Given the description of an element on the screen output the (x, y) to click on. 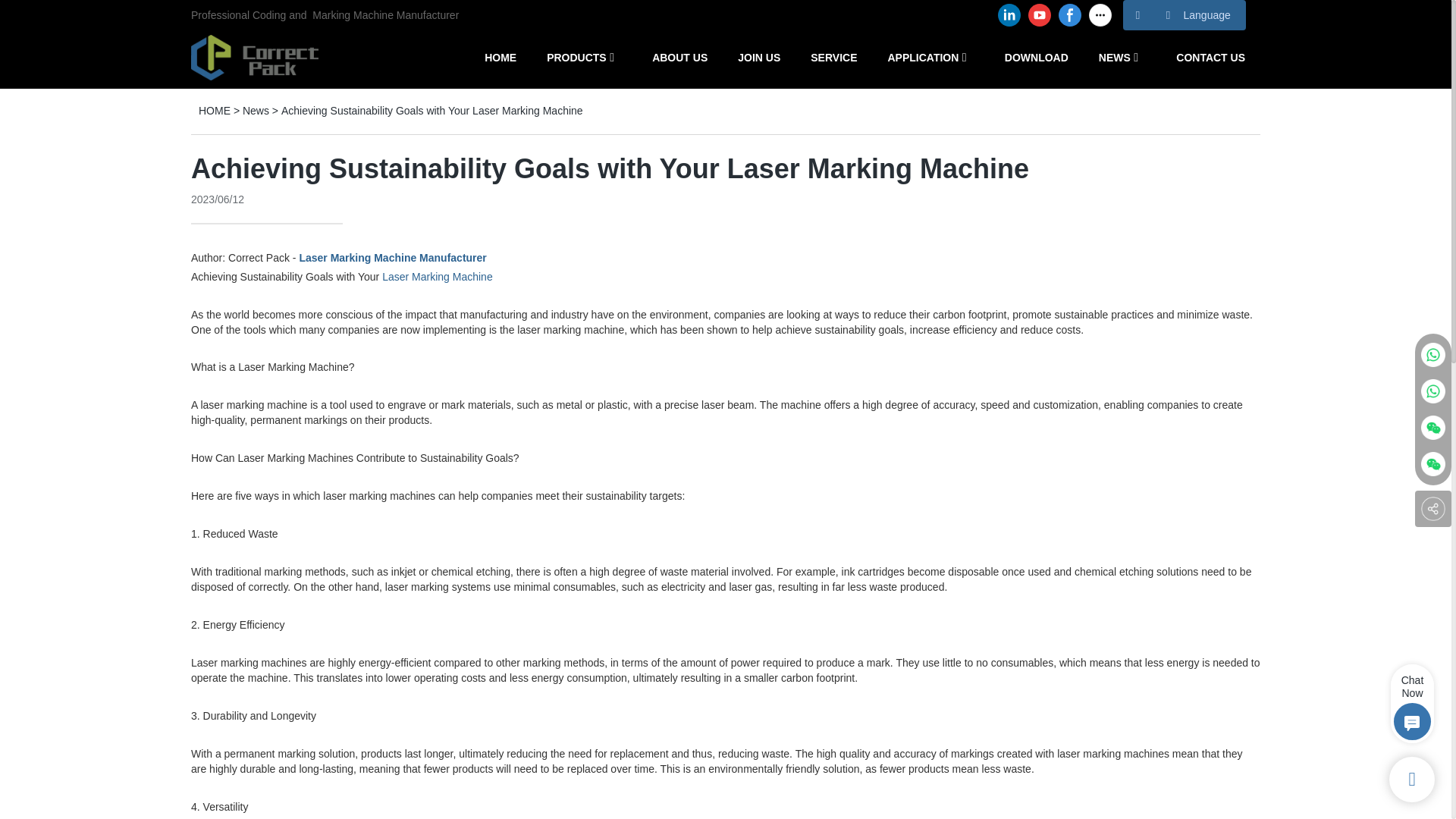
APPLICATION (922, 57)
SERVICE (833, 57)
JOIN US (759, 57)
Laser Marking Machine (437, 276)
linkedin (1009, 15)
DOWNLOAD (1036, 57)
HOME (500, 57)
ABOUT US (679, 57)
facebook (1069, 15)
PRODUCTS (577, 57)
